Given the description of an element on the screen output the (x, y) to click on. 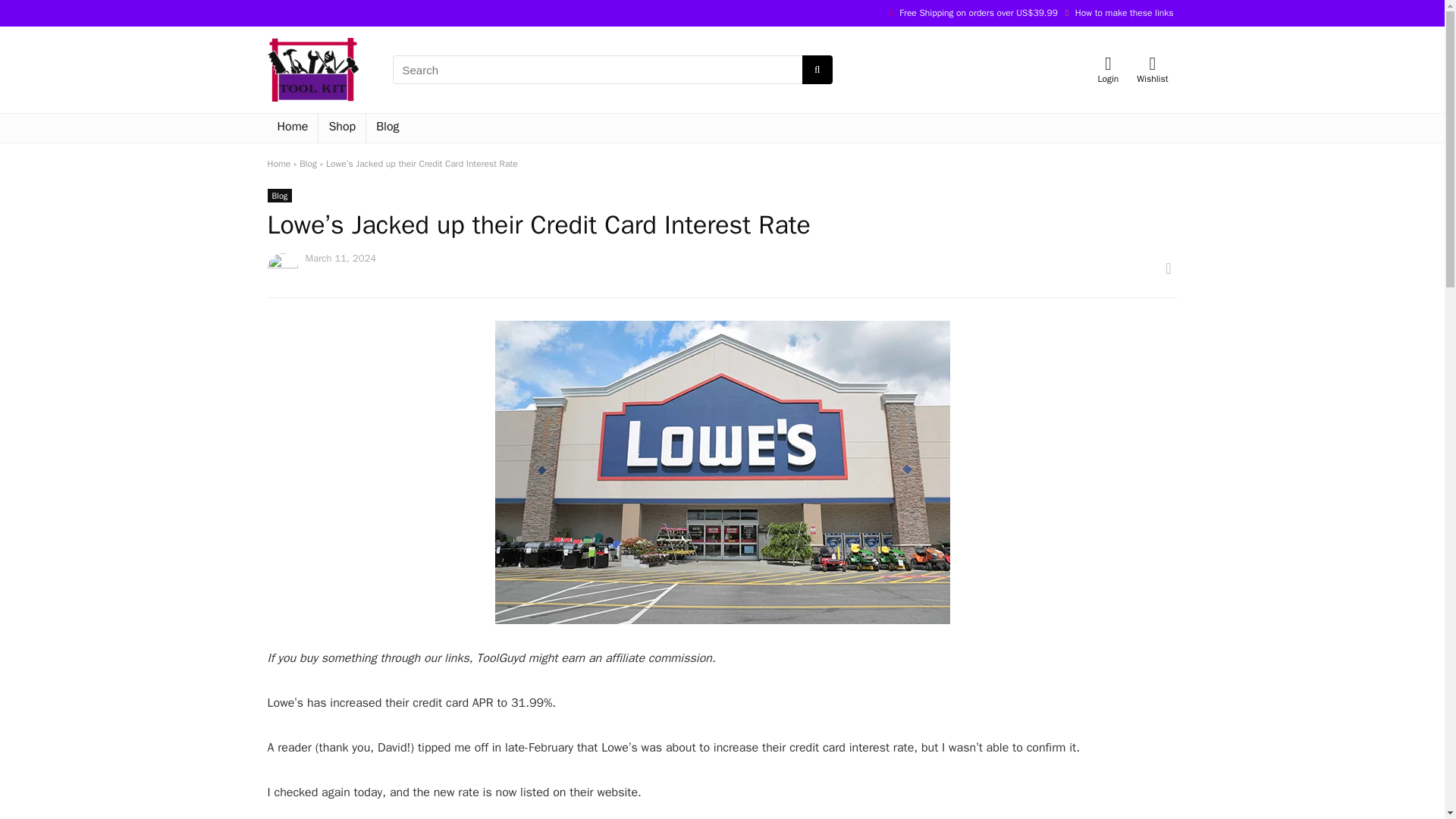
Home (291, 127)
Home (277, 163)
Blog (279, 195)
Blog (308, 163)
Shop (341, 127)
How to make these links (1124, 12)
View all posts in Blog (279, 195)
Blog (387, 127)
